Given the description of an element on the screen output the (x, y) to click on. 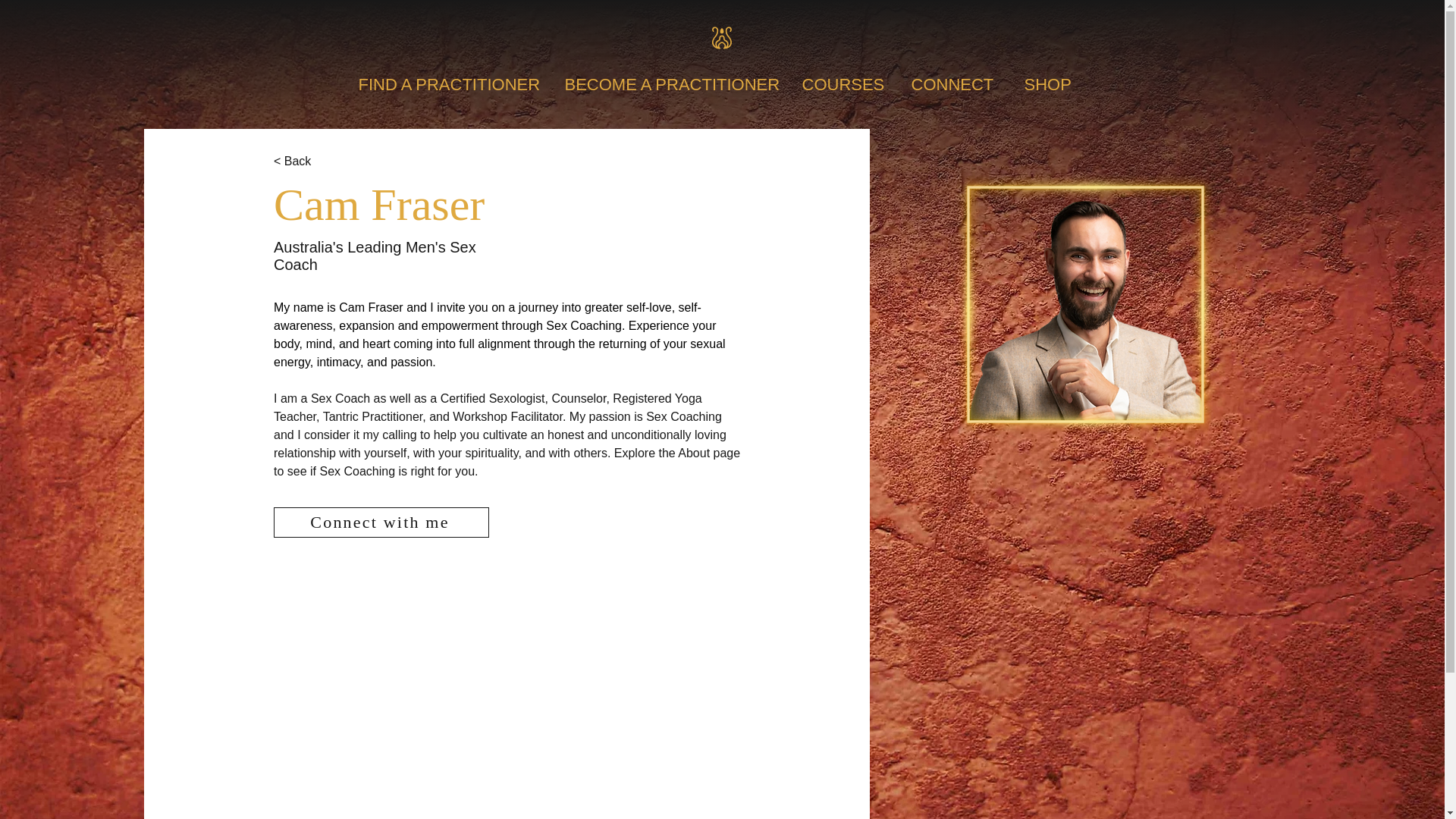
magicsquarecam1.png (1085, 304)
CONNECT (960, 84)
Connect with me (381, 521)
SHOP (1054, 84)
COURSES (849, 84)
FIND A PRACTITIONER (453, 84)
